Given the description of an element on the screen output the (x, y) to click on. 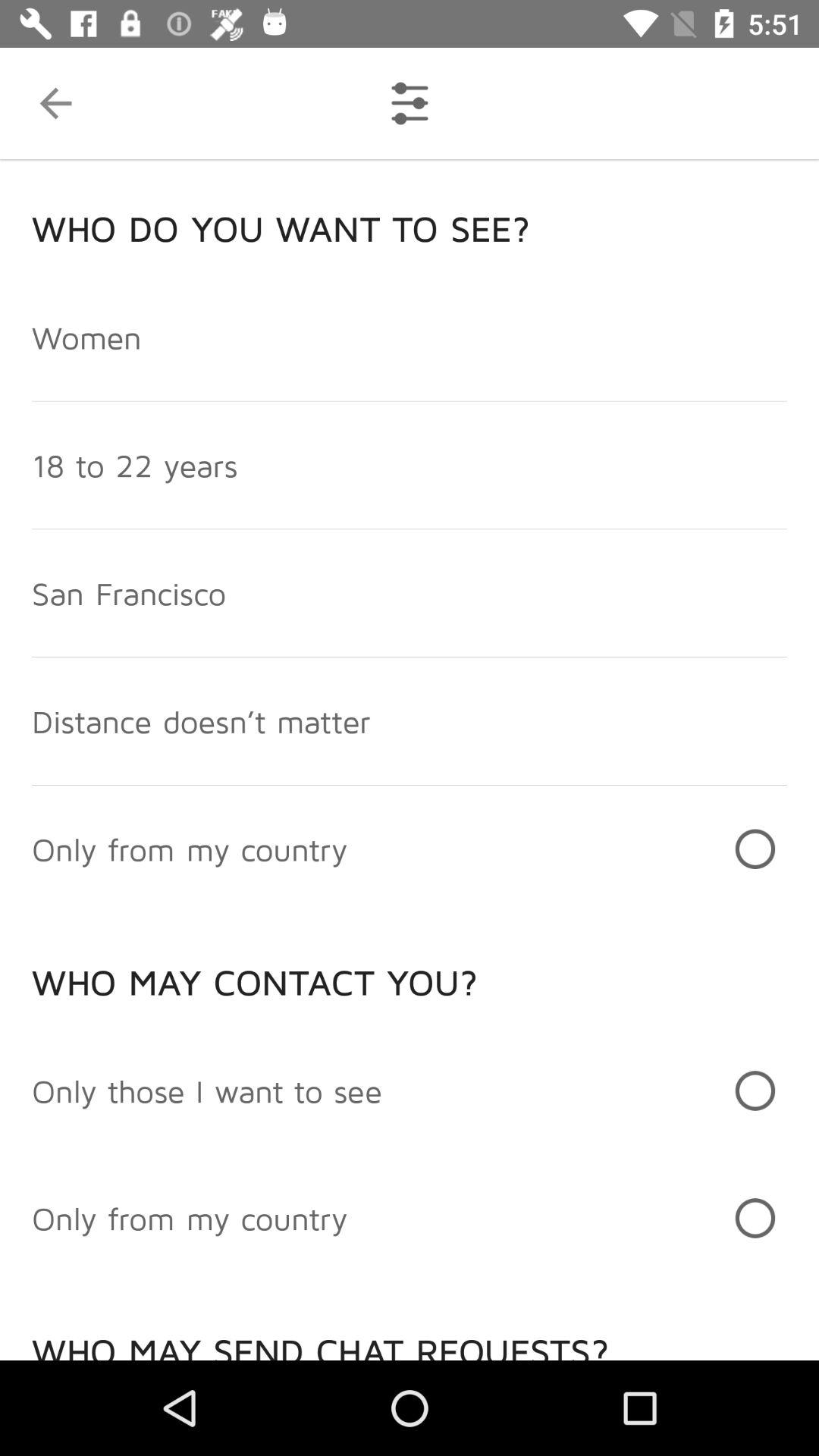
turn on the icon above the who do you icon (55, 103)
